Given the description of an element on the screen output the (x, y) to click on. 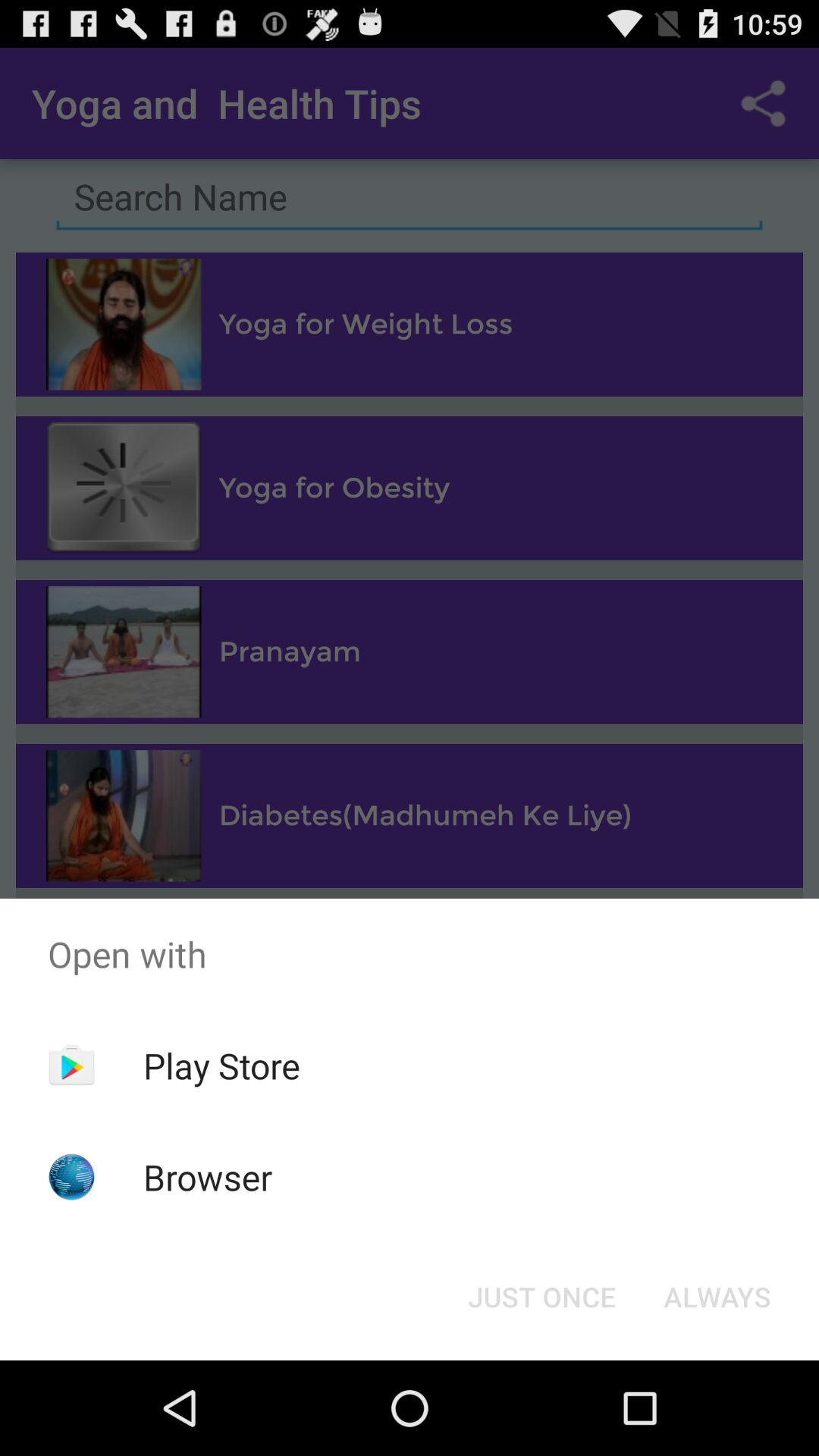
select the just once icon (541, 1296)
